Given the description of an element on the screen output the (x, y) to click on. 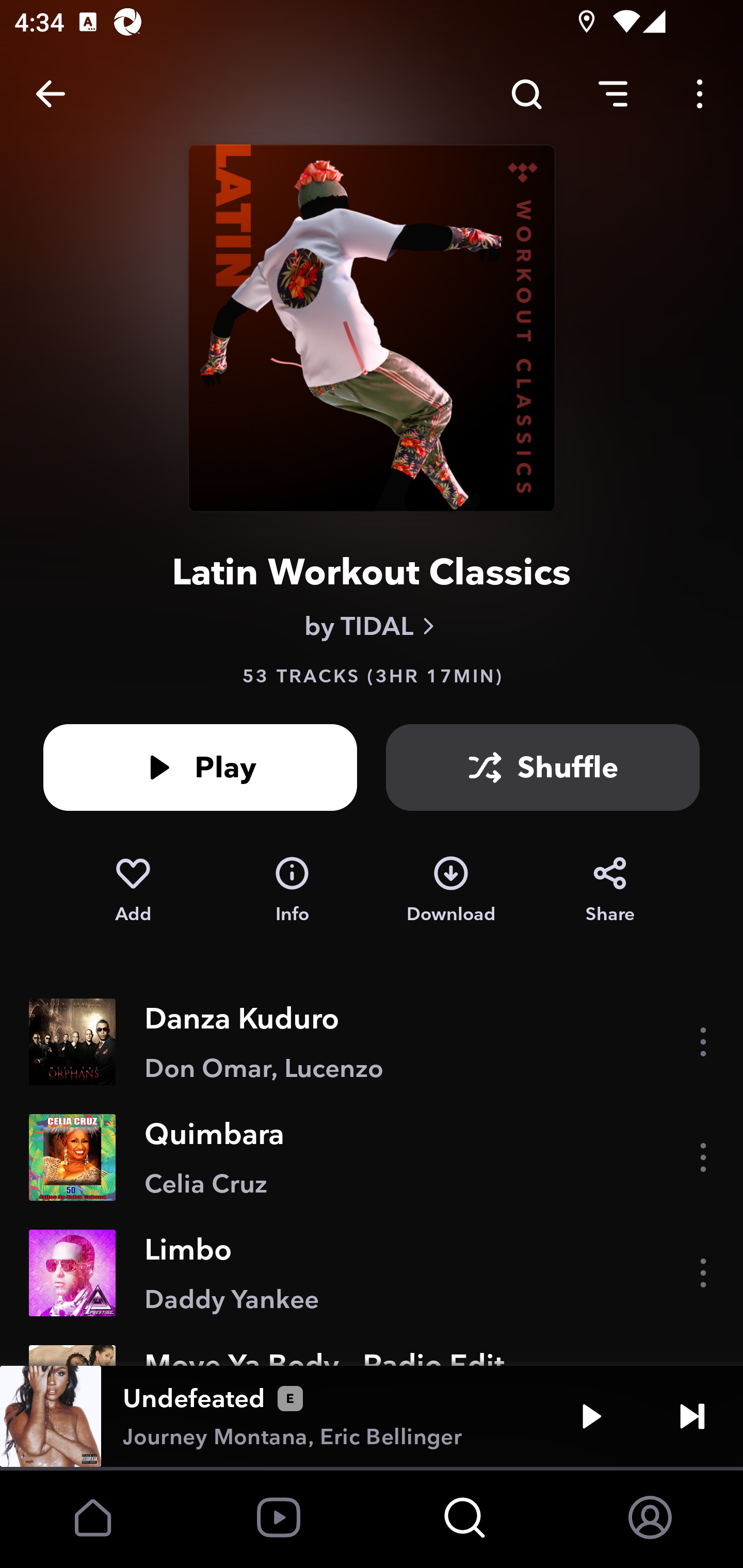
Back (50, 93)
Search (525, 93)
Sorting (612, 93)
Options (699, 93)
by TIDAL (371, 625)
Play (200, 767)
Shuffle (542, 767)
Add (132, 890)
Info (291, 890)
Download (450, 890)
Share (609, 890)
Danza Kuduro Don Omar, Lucenzo (371, 1041)
Quimbara Celia Cruz (371, 1157)
Limbo Daddy Yankee (371, 1273)
Undefeated    Journey Montana, Eric Bellinger Play (371, 1416)
Play (590, 1416)
